Given the description of an element on the screen output the (x, y) to click on. 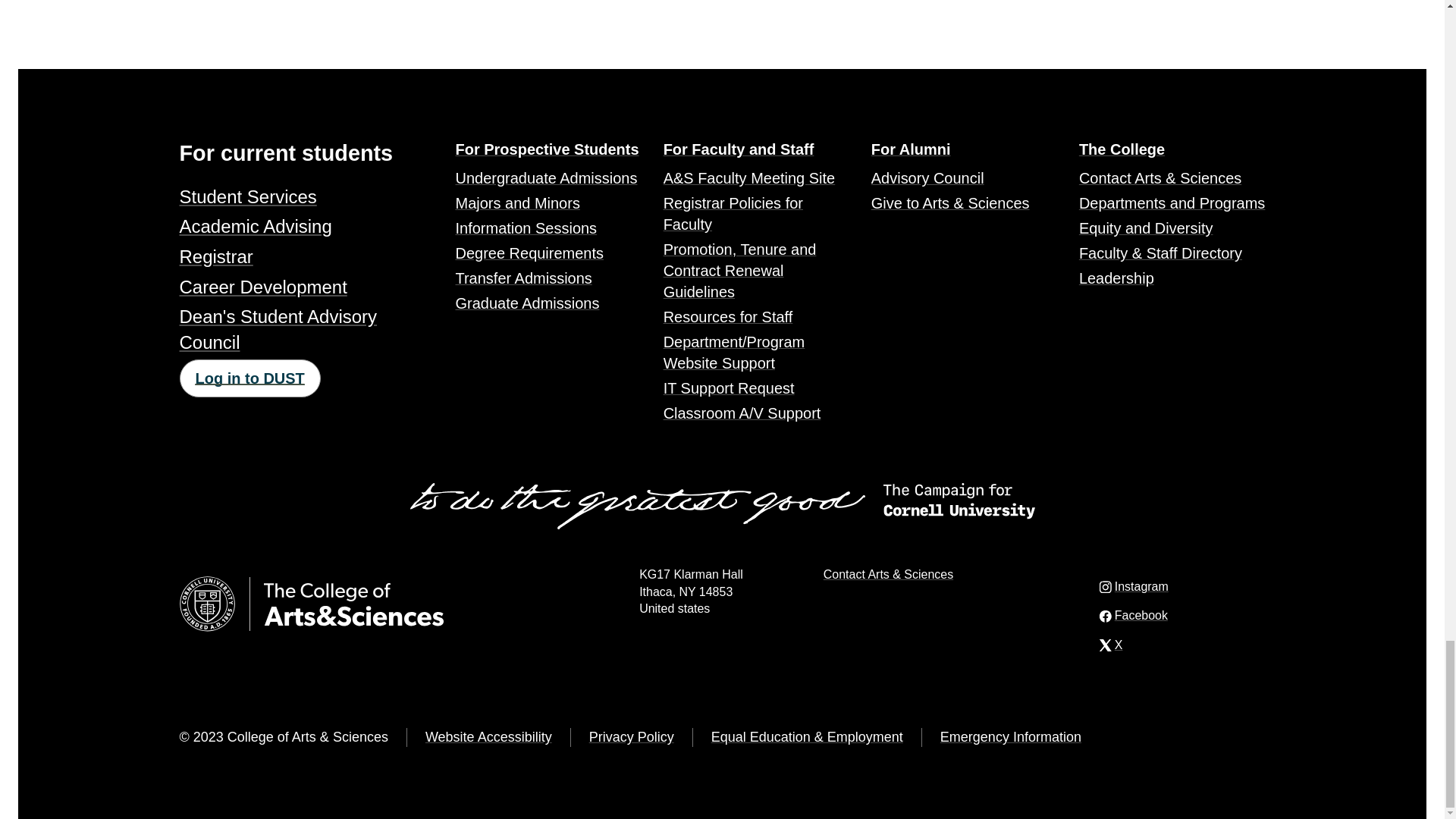
Cornell University (206, 603)
